Given the description of an element on the screen output the (x, y) to click on. 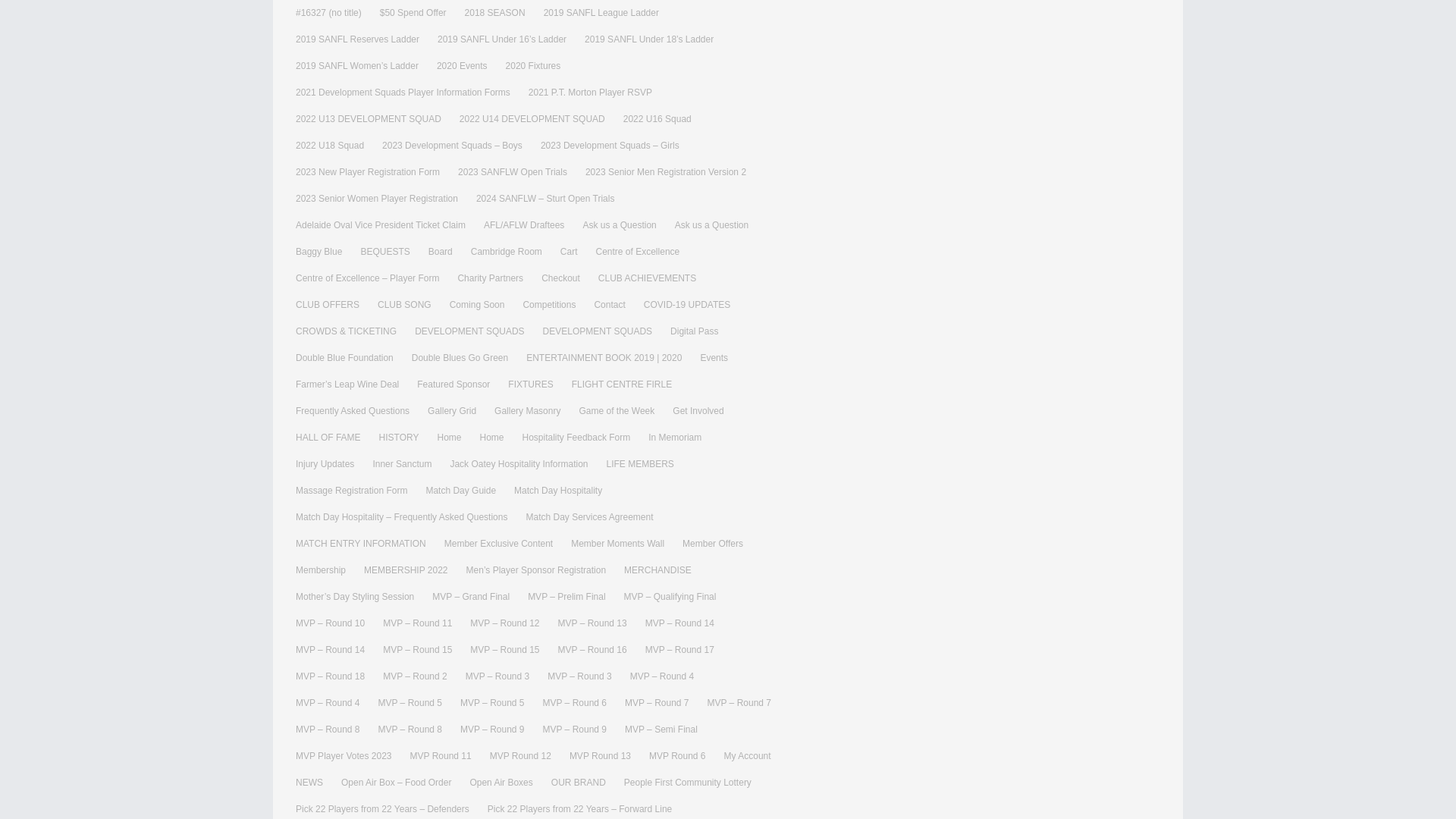
2023 Senior Women Player Registration (376, 198)
Board (440, 252)
Ask us a Question (619, 225)
Ask us a Question (711, 225)
2022 U13 DEVELOPMENT SQUAD (368, 119)
2023 New Player Registration Form (367, 171)
2018 SEASON (494, 13)
2019 SANFL Reserves Ladder (357, 39)
2020 Events (461, 66)
2021 Development Squads Player Information Forms (403, 92)
2022 U16 Squad (657, 119)
Charity Partners (489, 278)
2019 SANFL League Ladder (601, 13)
Coming Soon (477, 304)
2020 Fixtures (532, 66)
